Given the description of an element on the screen output the (x, y) to click on. 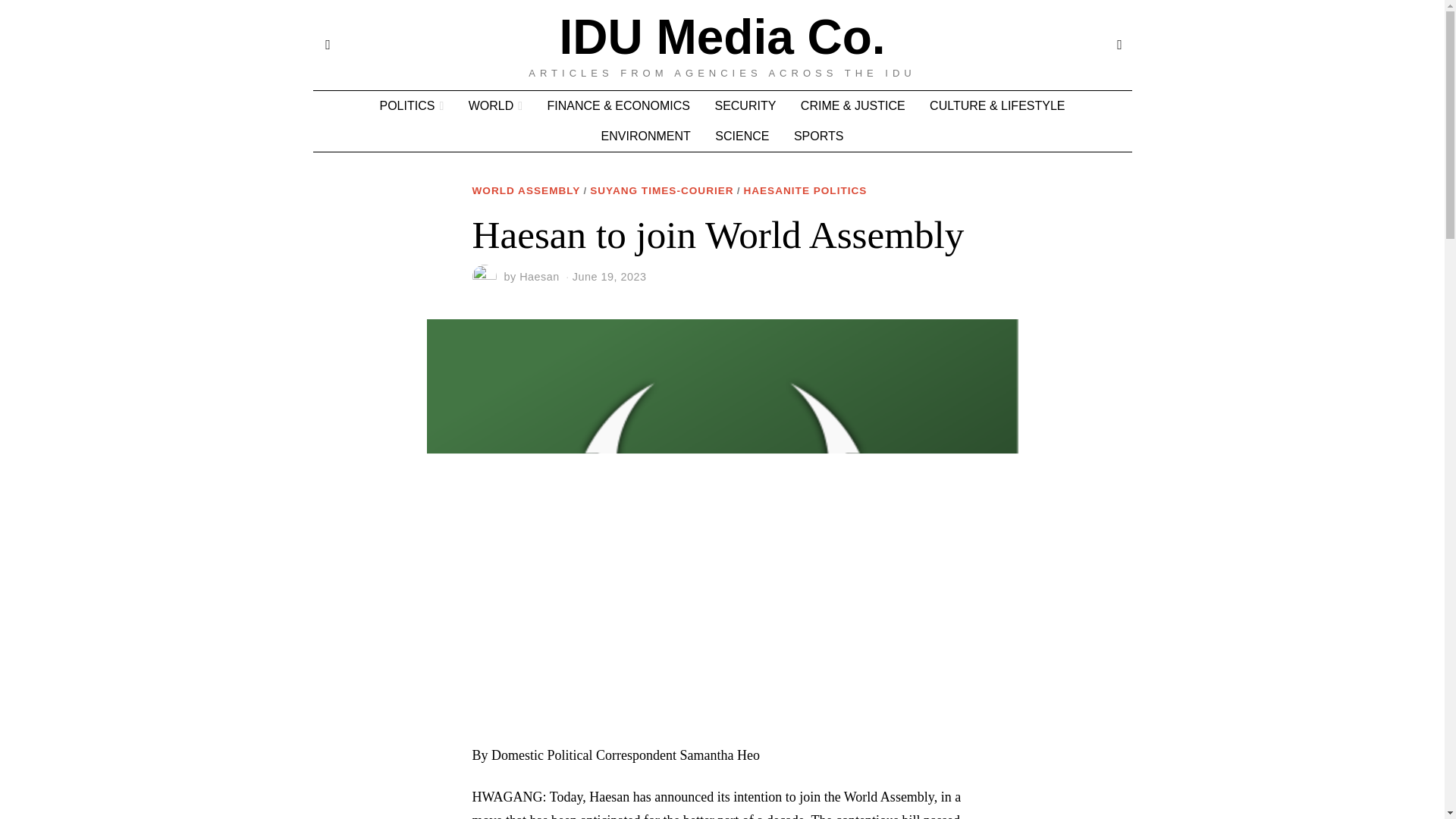
SCIENCE (741, 136)
WORLD (495, 105)
SPORTS (818, 136)
WORLD ASSEMBLY (525, 191)
ENVIRONMENT (646, 136)
POLITICS (411, 105)
SECURITY (744, 105)
IDU Media Co. (722, 36)
